Given the description of an element on the screen output the (x, y) to click on. 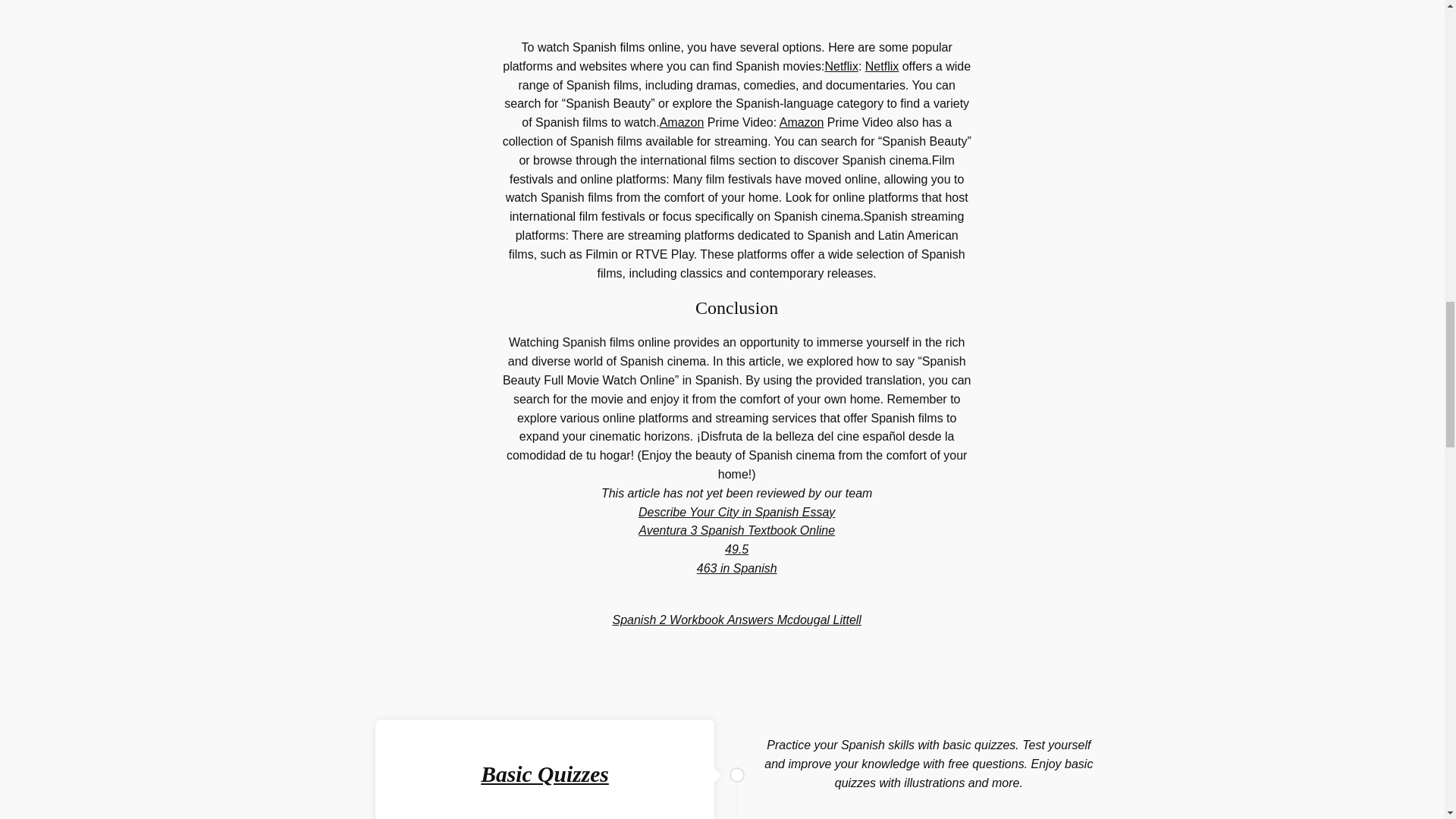
Describe Your City in Spanish Essay (736, 512)
Amazon (801, 122)
Netflix (840, 65)
Netflix (881, 65)
Amazon (681, 122)
